Given the description of an element on the screen output the (x, y) to click on. 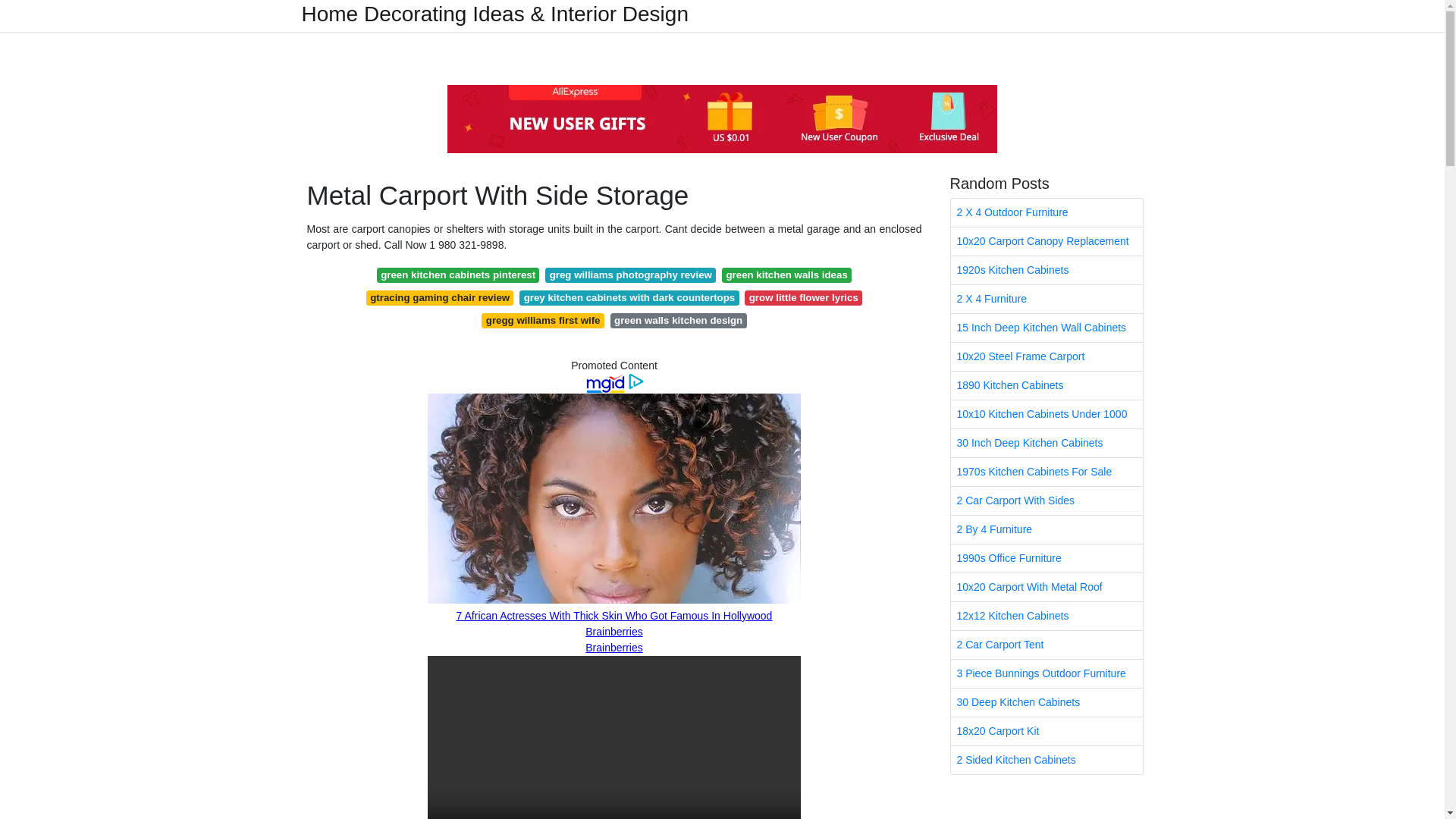
green kitchen cabinets pinterest (458, 274)
grow little flower lyrics (802, 297)
grey kitchen cabinets with dark countertops (628, 297)
10x20 Carport Canopy Replacement (1046, 241)
1890 Kitchen Cabinets (1046, 385)
10x10 Kitchen Cabinets Under 1000 (1046, 414)
gtracing gaming chair review (439, 297)
30 Inch Deep Kitchen Cabinets (1046, 443)
green walls kitchen design (678, 320)
greg williams photography review (630, 274)
gregg williams first wife (542, 320)
15 Inch Deep Kitchen Wall Cabinets (1046, 327)
1920s Kitchen Cabinets (1046, 270)
2 X 4 Outdoor Furniture (1046, 212)
green kitchen walls ideas (786, 274)
